Given the description of an element on the screen output the (x, y) to click on. 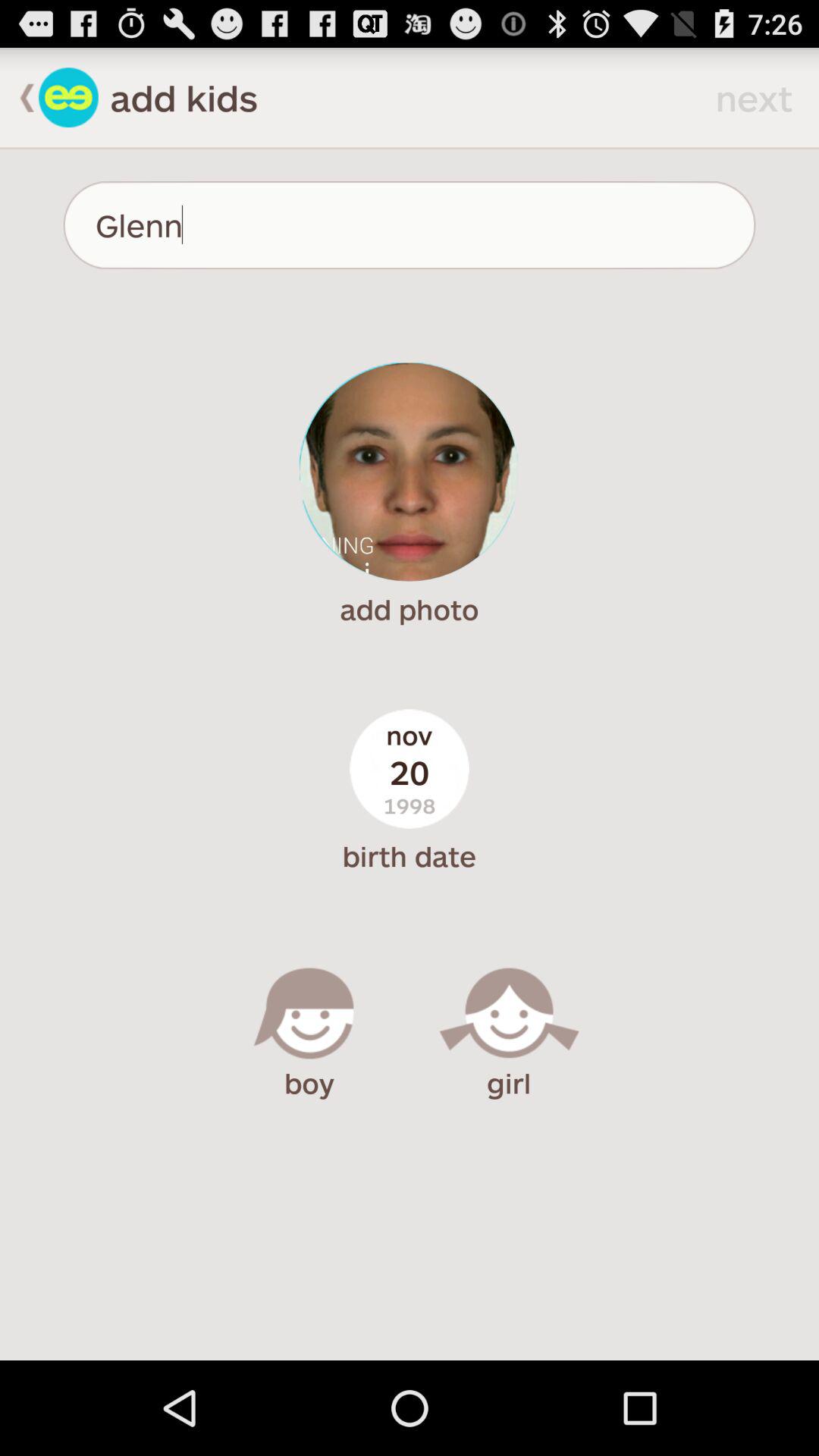
go back (68, 97)
